Given the description of an element on the screen output the (x, y) to click on. 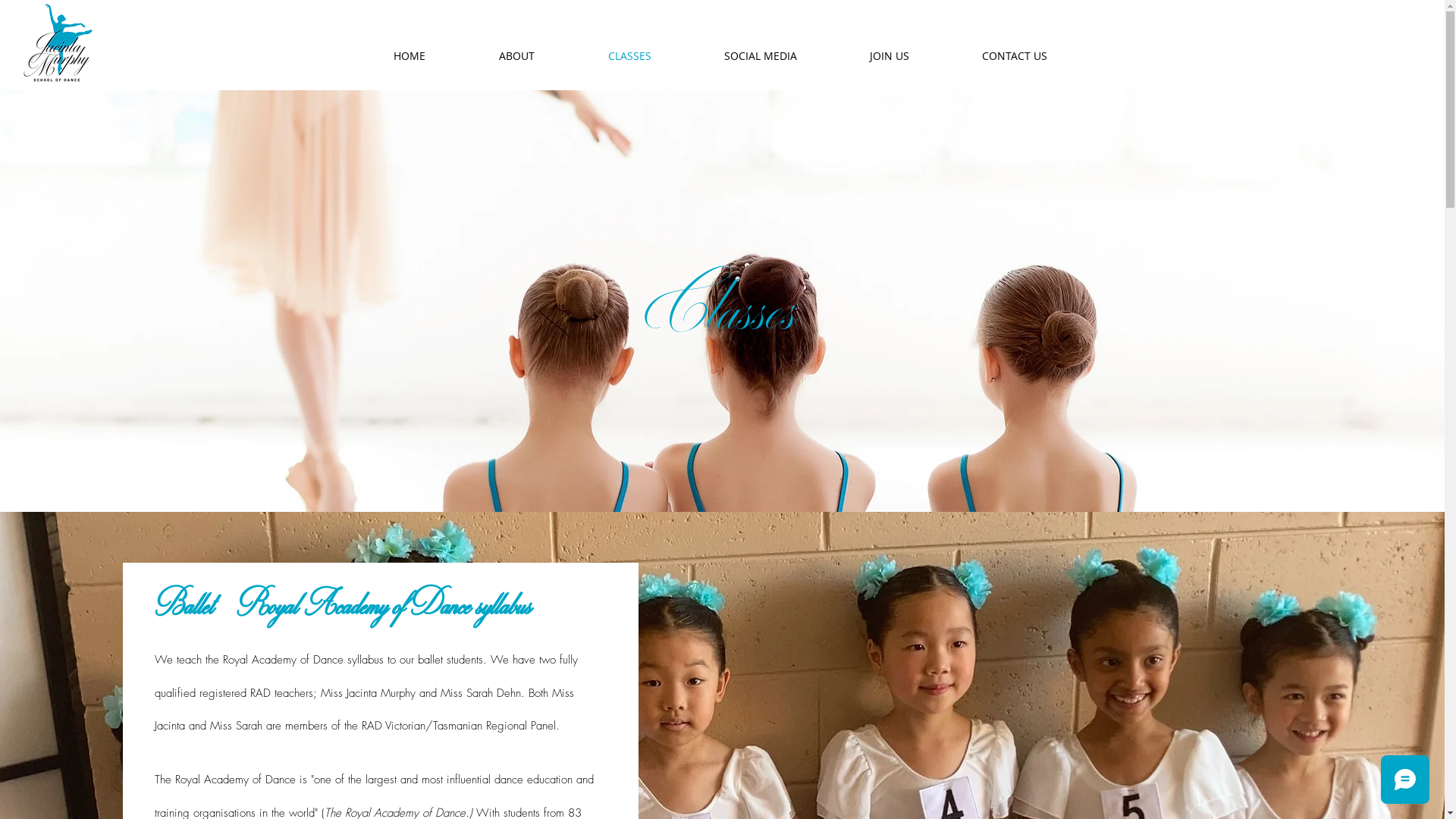
ABOUT Element type: text (516, 55)
CONTACT US Element type: text (1013, 55)
HOME Element type: text (408, 55)
JOIN US Element type: text (888, 55)
CLASSES Element type: text (629, 55)
SOCIAL MEDIA Element type: text (759, 55)
